Given the description of an element on the screen output the (x, y) to click on. 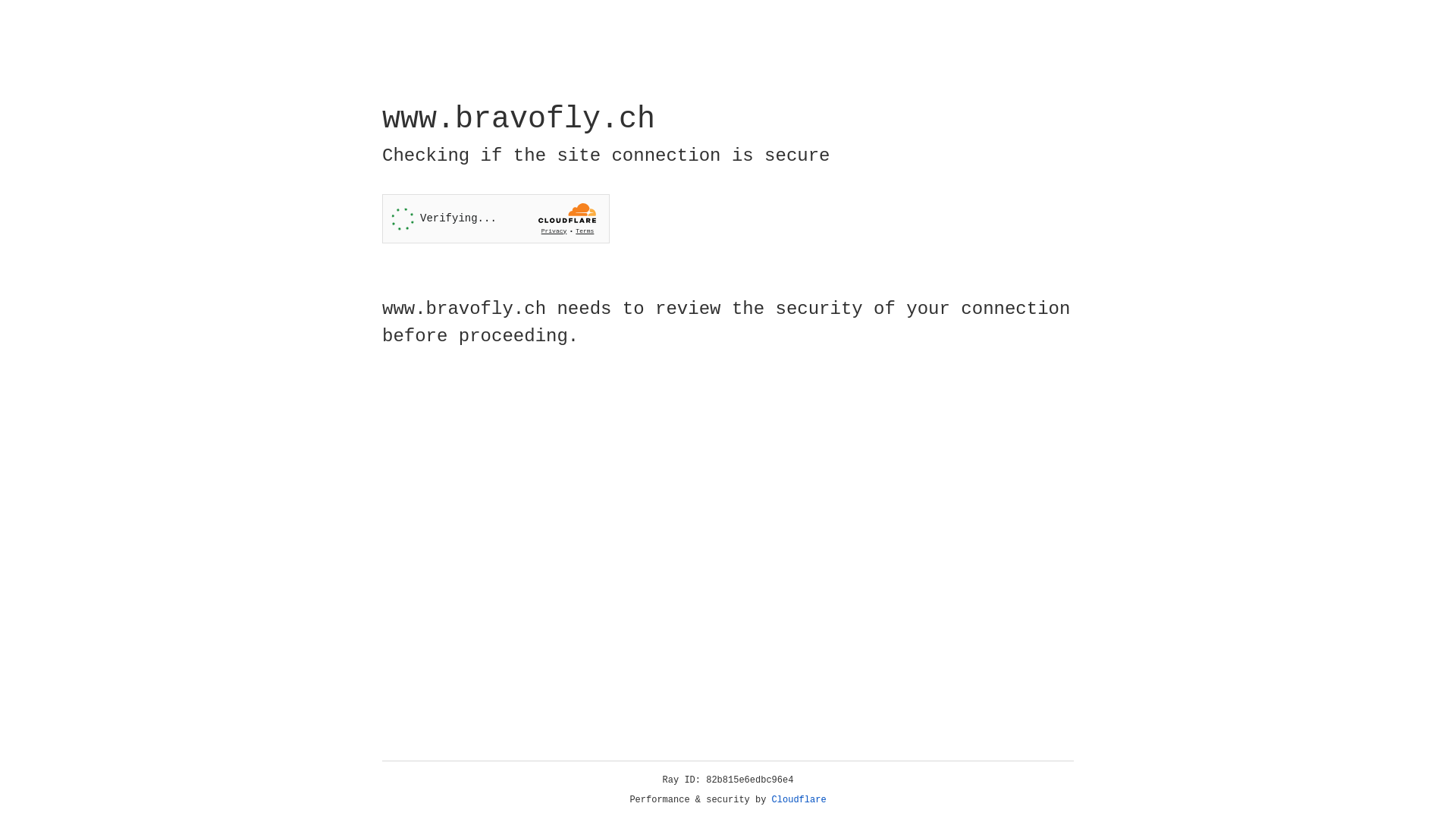
Widget containing a Cloudflare security challenge Element type: hover (495, 218)
Cloudflare Element type: text (798, 799)
